Given the description of an element on the screen output the (x, y) to click on. 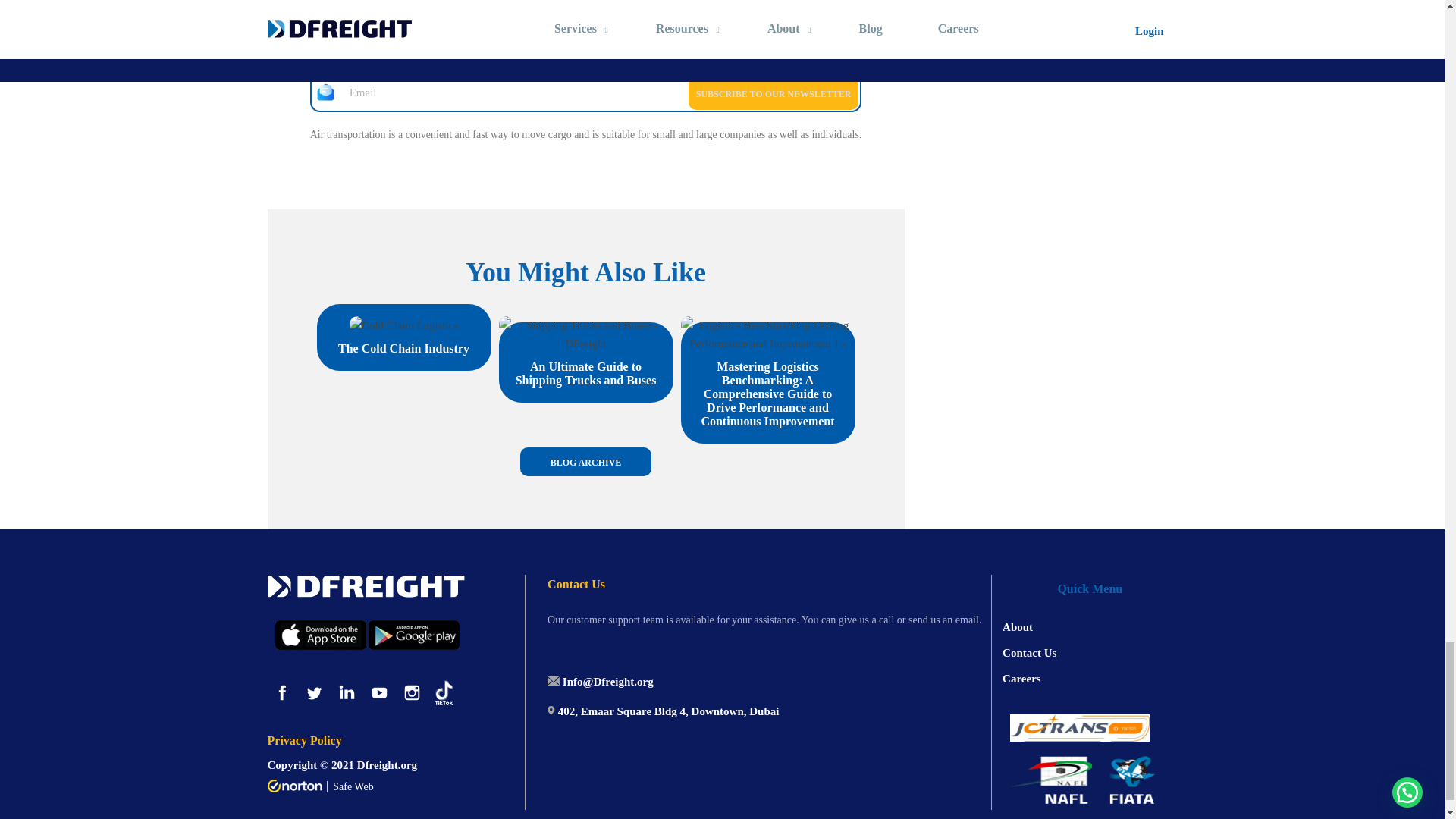
Subscribe to our newsletter (773, 92)
